Given the description of an element on the screen output the (x, y) to click on. 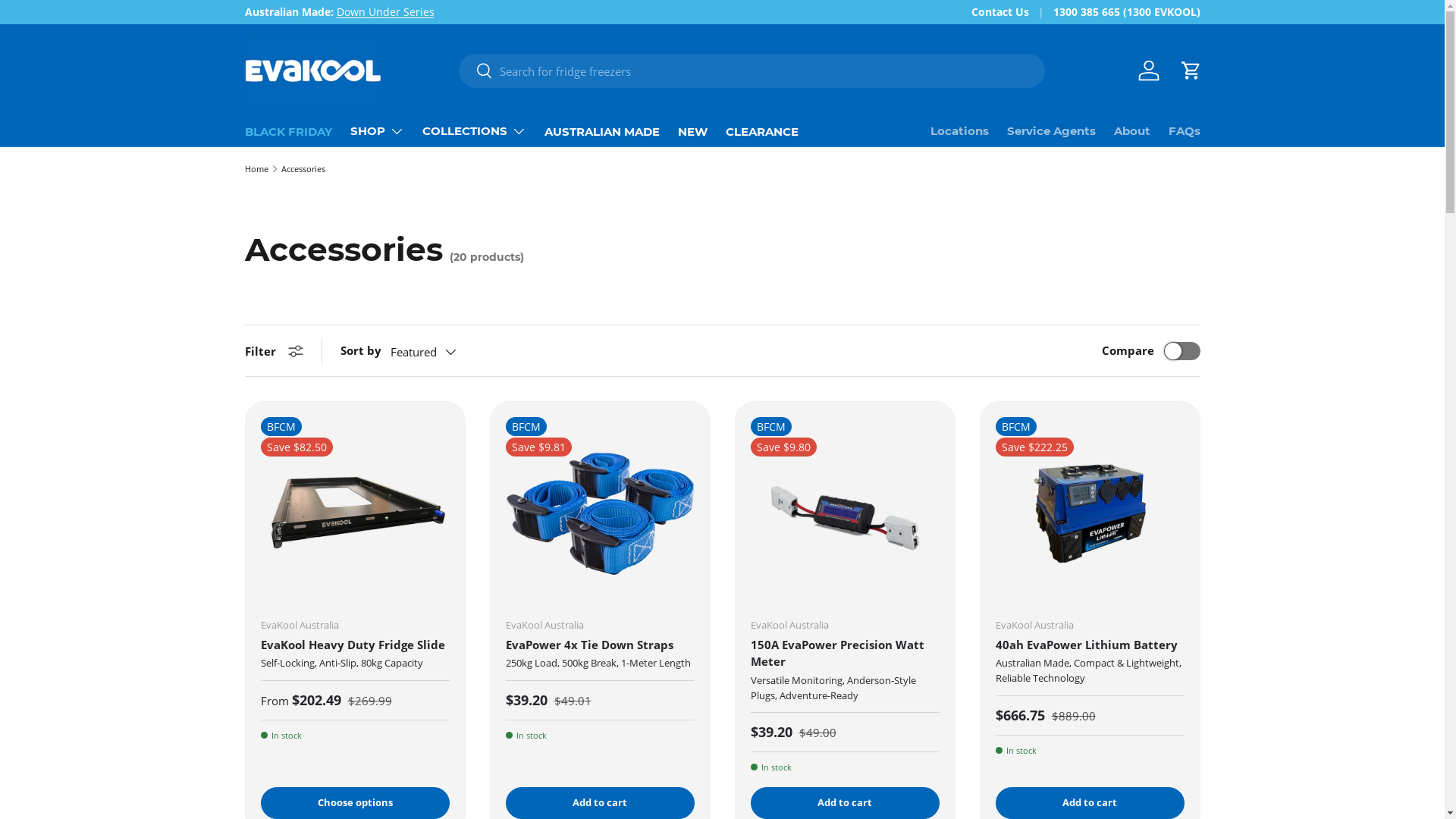
FAQs Element type: text (1183, 130)
Service Agents Element type: text (1051, 130)
EvaPower 4x Tie Down Straps Element type: text (588, 644)
BLACK FRIDAY Element type: text (287, 131)
Featured Element type: text (437, 351)
Log in Element type: text (1147, 70)
CLEARANCE Element type: text (760, 131)
Skip to content Element type: text (67, 21)
SHOP Element type: text (377, 131)
Locations Element type: text (958, 130)
Home Element type: text (255, 168)
Filter Element type: text (273, 349)
40ah EvaPower Lithium Battery Element type: text (1085, 644)
Contact Us Element type: text (1011, 11)
NEW Element type: text (692, 131)
Cart Element type: text (1190, 70)
AUSTRALIAN MADE Element type: text (601, 131)
1300 385 665 (1300 EVKOOL) Element type: text (1125, 11)
150A EvaPower Precision Watt Meter Element type: text (837, 653)
All Orders Over $250* Element type: text (147, 11)
COLLECTIONS Element type: text (473, 131)
Accessories Element type: text (303, 168)
Search Element type: text (475, 71)
About Element type: text (1131, 130)
EvaKool Heavy Duty Fridge Slide Element type: text (352, 644)
